Given the description of an element on the screen output the (x, y) to click on. 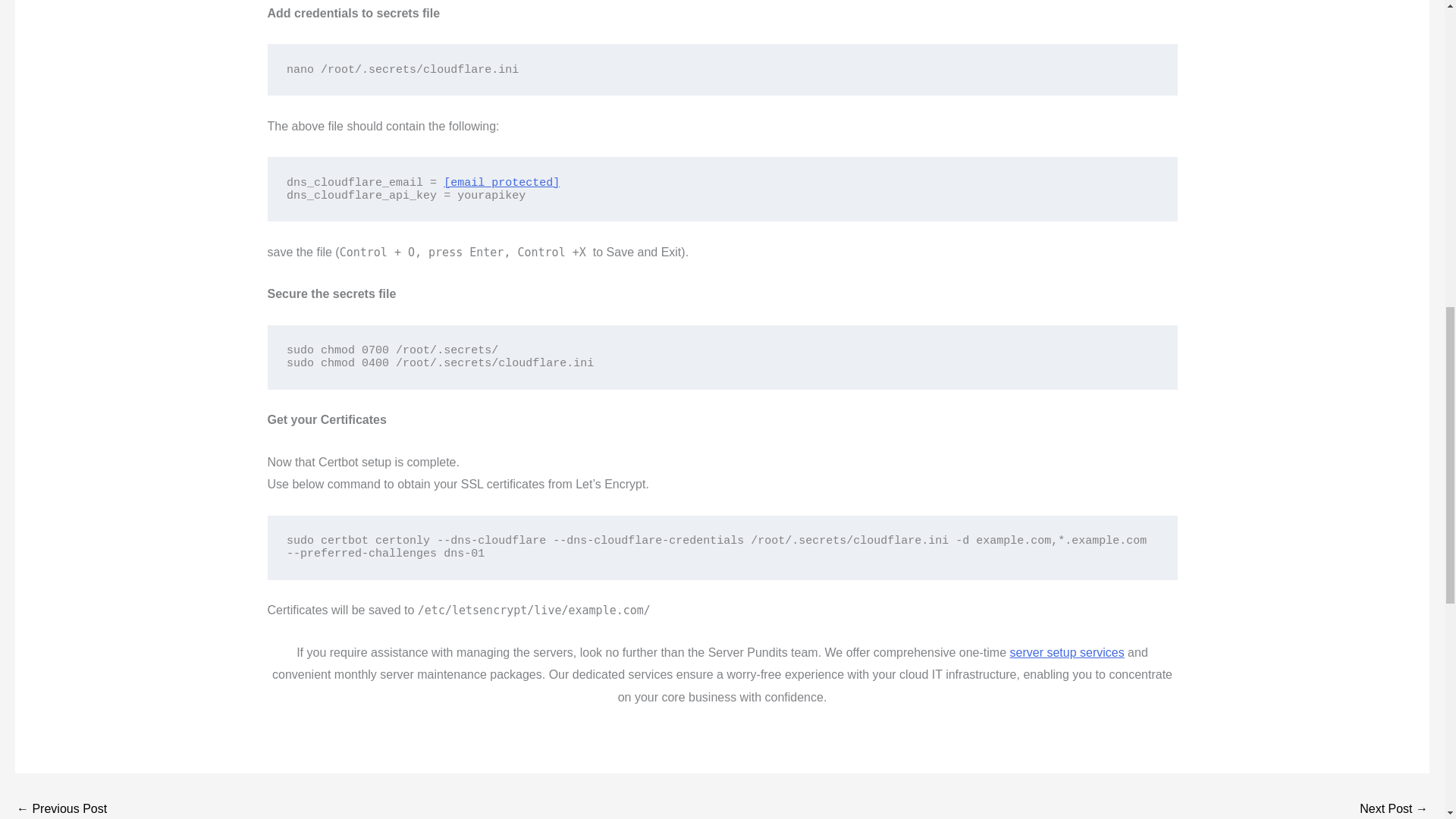
Enabling QUIC on NGINX Web Server (61, 808)
server setup services (1067, 652)
Migration Strategies: Lift and Shift vs. Cloud-Native (1393, 808)
Server Administration (1067, 652)
